Given the description of an element on the screen output the (x, y) to click on. 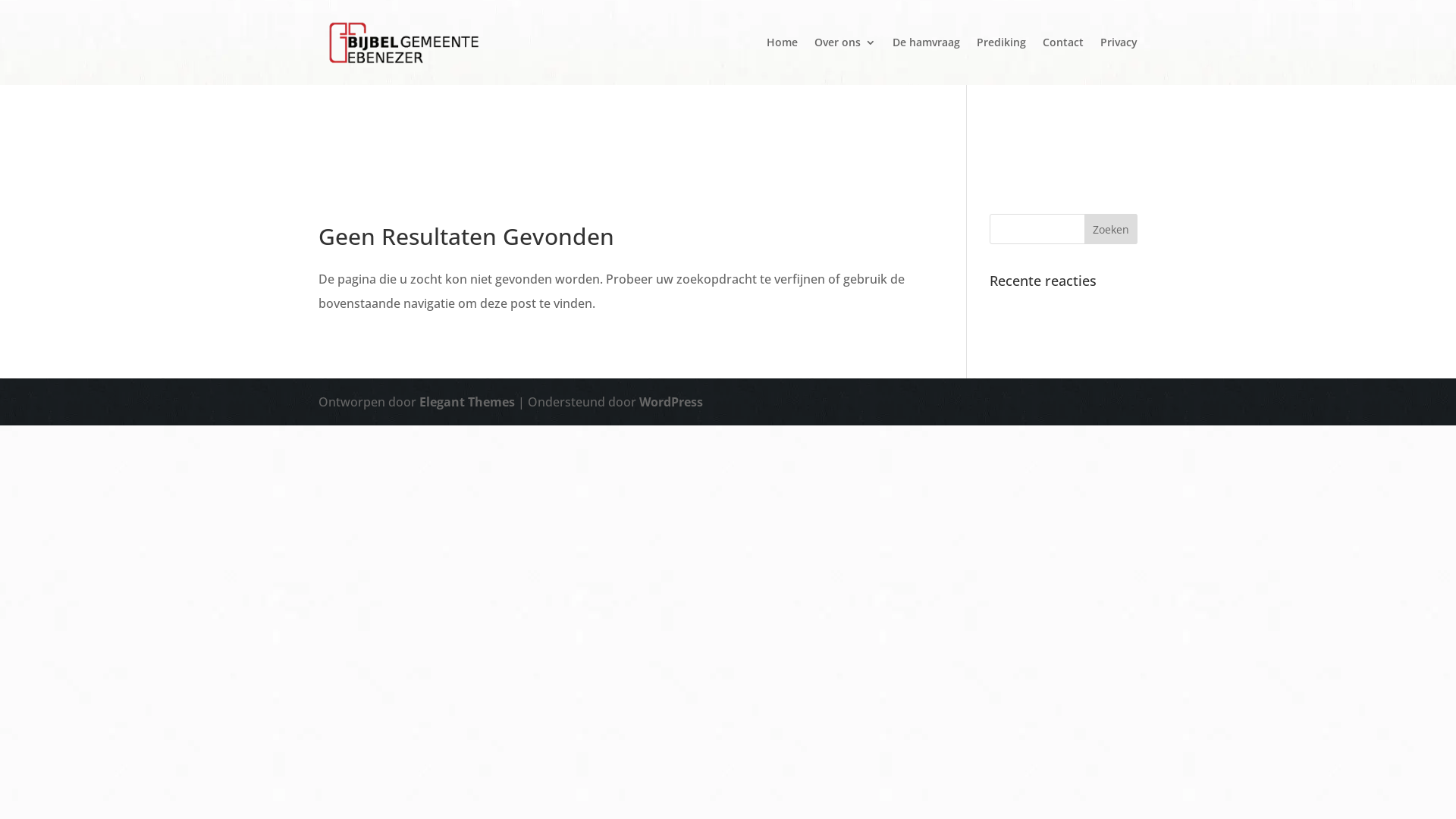
Contact Element type: text (1062, 60)
De hamvraag Element type: text (926, 60)
Zoeken Element type: text (1110, 228)
Privacy Element type: text (1118, 60)
Prediking Element type: text (1001, 60)
WordPress Element type: text (670, 401)
Home Element type: text (781, 60)
Elegant Themes Element type: text (466, 401)
Over ons Element type: text (844, 60)
